Given the description of an element on the screen output the (x, y) to click on. 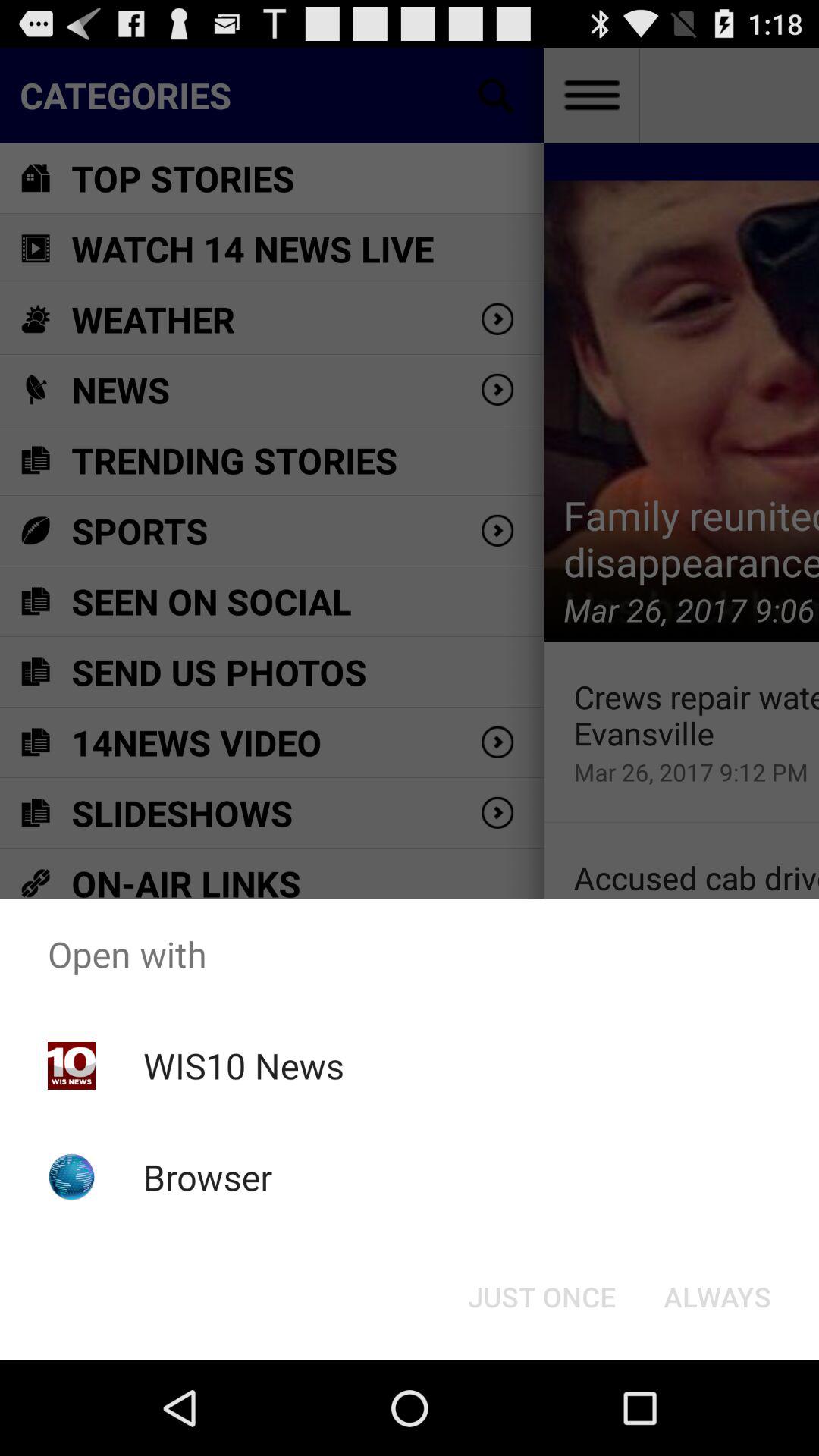
choose just once (541, 1296)
